Given the description of an element on the screen output the (x, y) to click on. 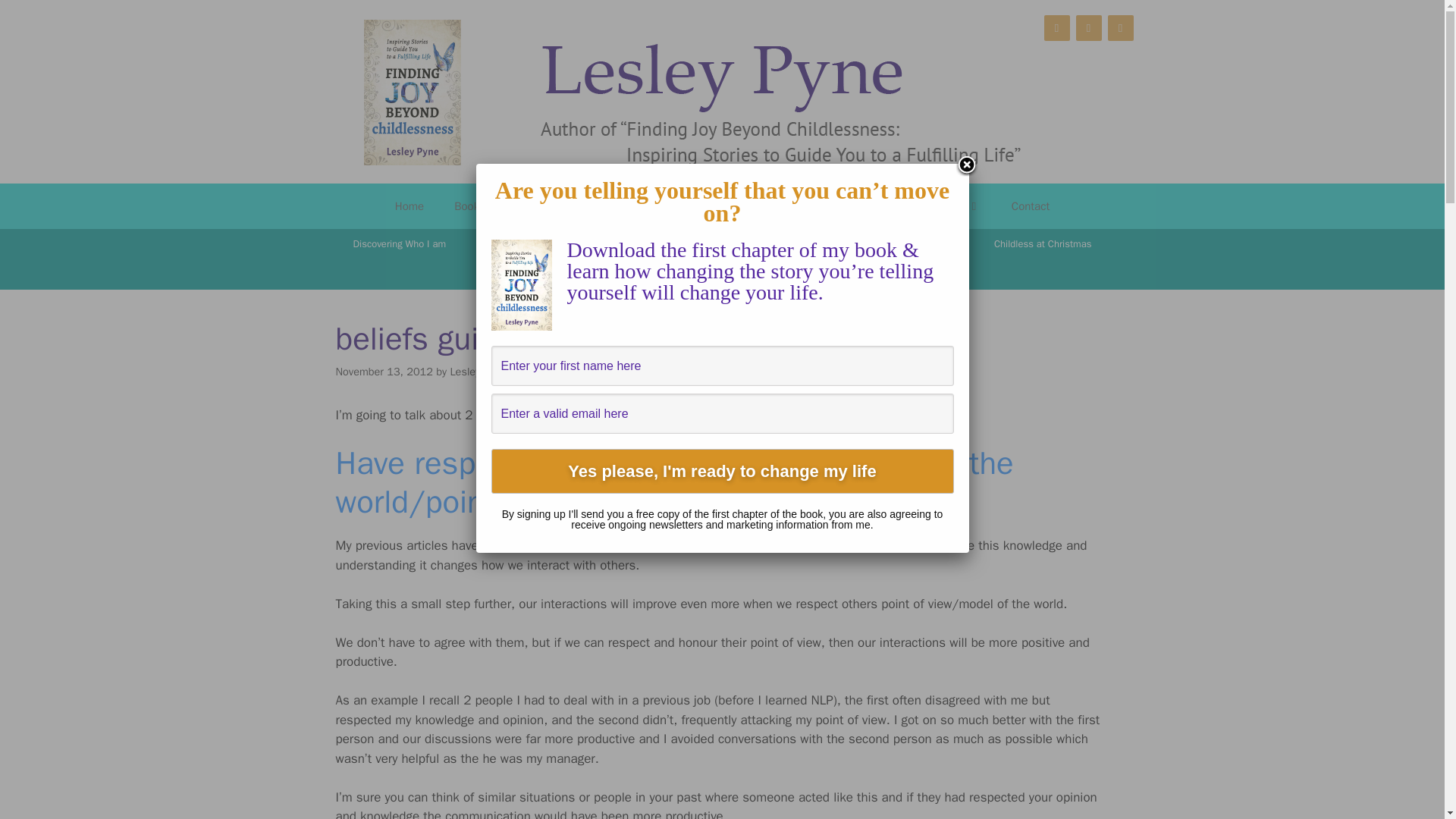
Book (475, 206)
Moving Forward (639, 244)
Blog (612, 206)
Discovering Who I am (399, 244)
Inspirational Stories (703, 206)
Search Blogs (721, 274)
Resources (945, 206)
Childless at Christmas (1042, 244)
Facebook (1055, 27)
Home (409, 206)
Living in tune with the seasons (769, 244)
Contact (1029, 206)
View all posts by Lesley (464, 371)
Instagram (1087, 27)
Grief (953, 244)
